Given the description of an element on the screen output the (x, y) to click on. 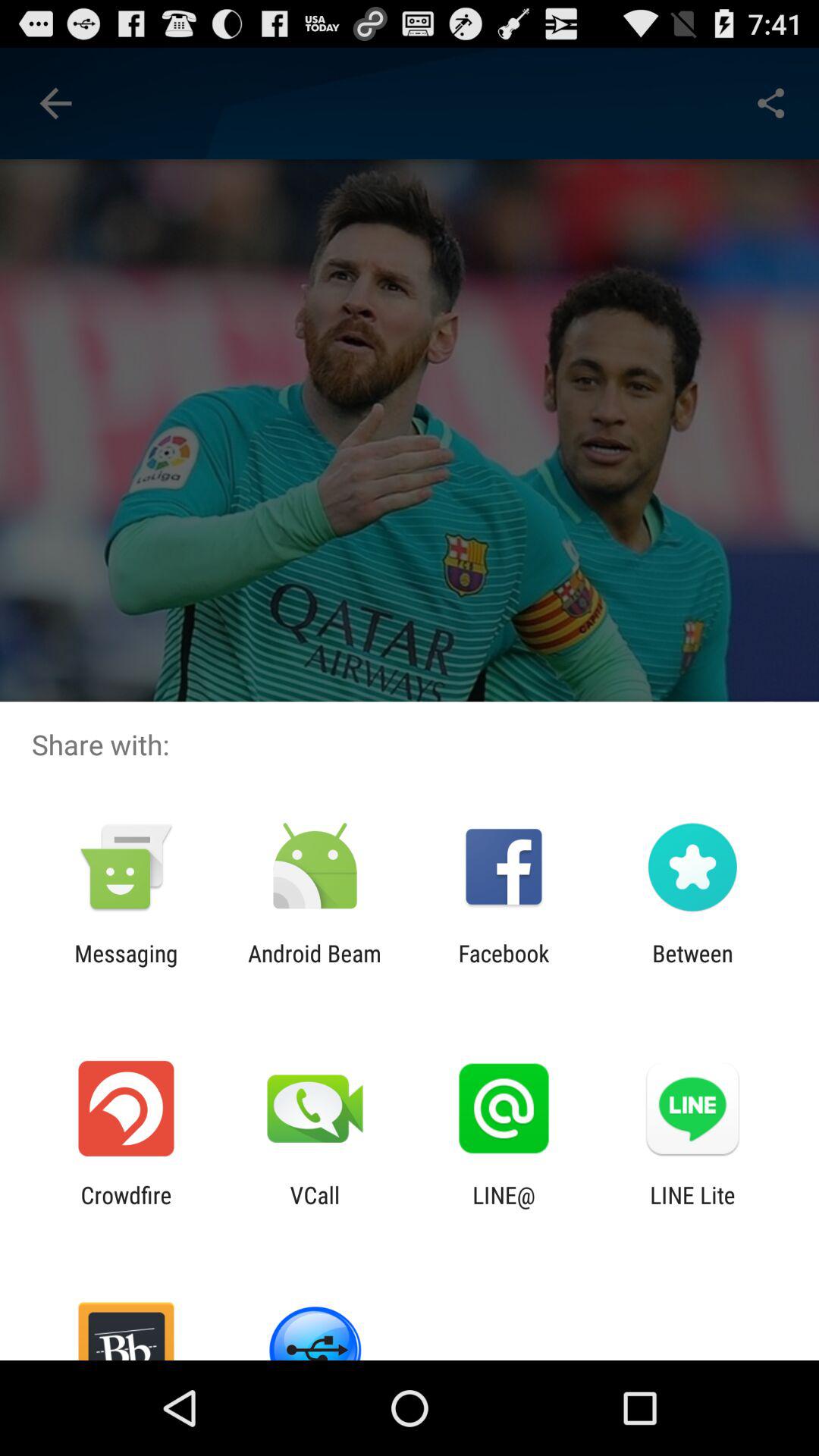
turn off the item to the left of the vcall icon (125, 1208)
